Given the description of an element on the screen output the (x, y) to click on. 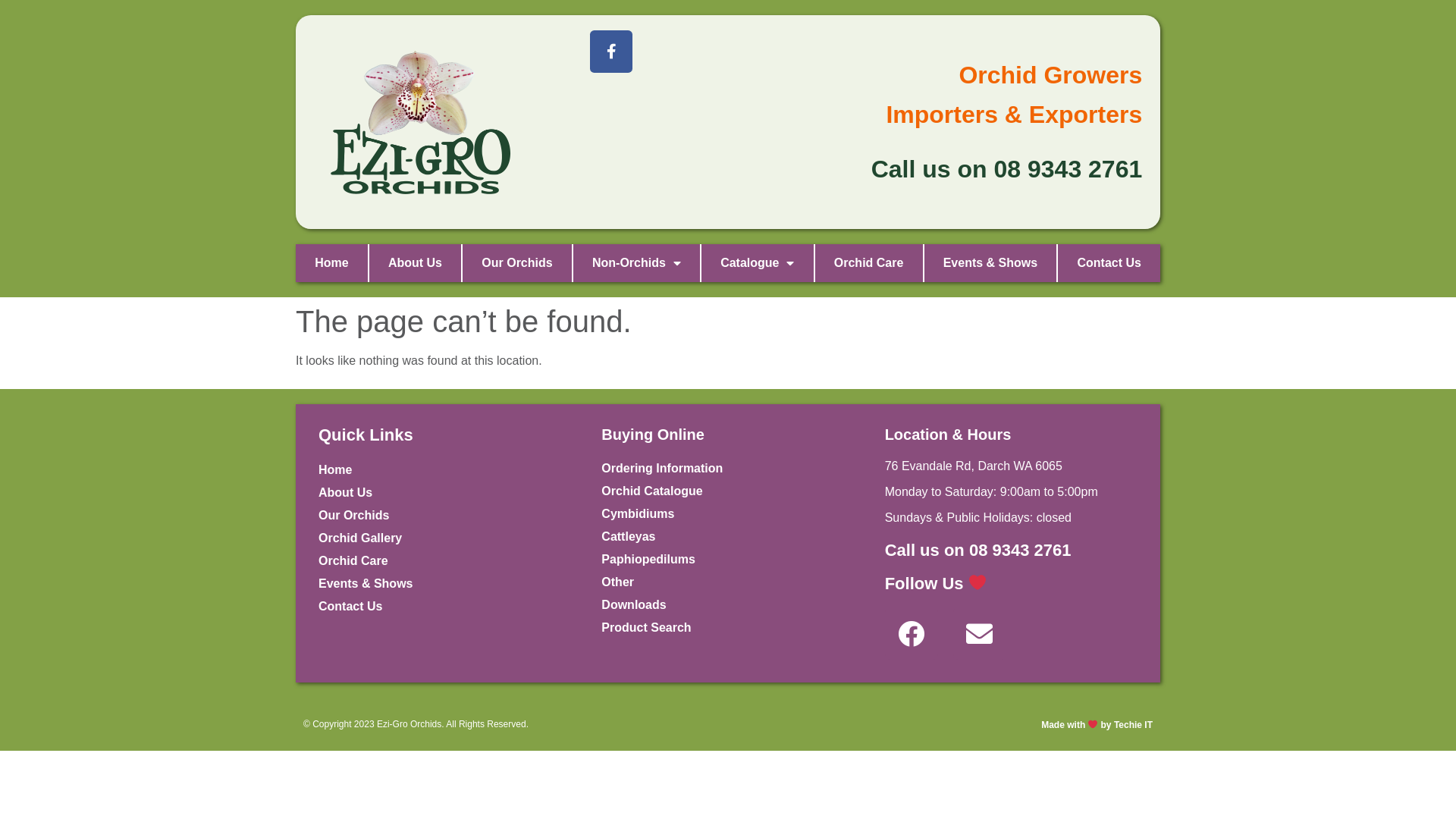
Paphiopedilums Element type: text (727, 558)
Events & Shows Element type: text (444, 582)
Contact Us Element type: text (444, 605)
Orchid Gallery Element type: text (444, 537)
Catalogue Element type: text (757, 263)
Call us on 08 9343 2761 Element type: text (977, 548)
Cattleyas Element type: text (727, 535)
Events & Shows Element type: text (990, 263)
Made with by Techie IT Element type: text (1096, 724)
Our Orchids Element type: text (516, 263)
About Us Element type: text (415, 263)
Orchid Care Element type: text (444, 560)
Non-Orchids Element type: text (636, 263)
Home Element type: text (331, 263)
Contact Us Element type: text (1108, 263)
Our Orchids Element type: text (444, 514)
Orchid Care Element type: text (868, 263)
About Us Element type: text (444, 491)
Ordering Information Element type: text (727, 467)
Downloads Element type: text (727, 604)
Orchid Catalogue Element type: text (727, 490)
Home Element type: text (444, 469)
Product Search Element type: text (727, 626)
Other Element type: text (727, 581)
Cymbidiums Element type: text (727, 513)
